Given the description of an element on the screen output the (x, y) to click on. 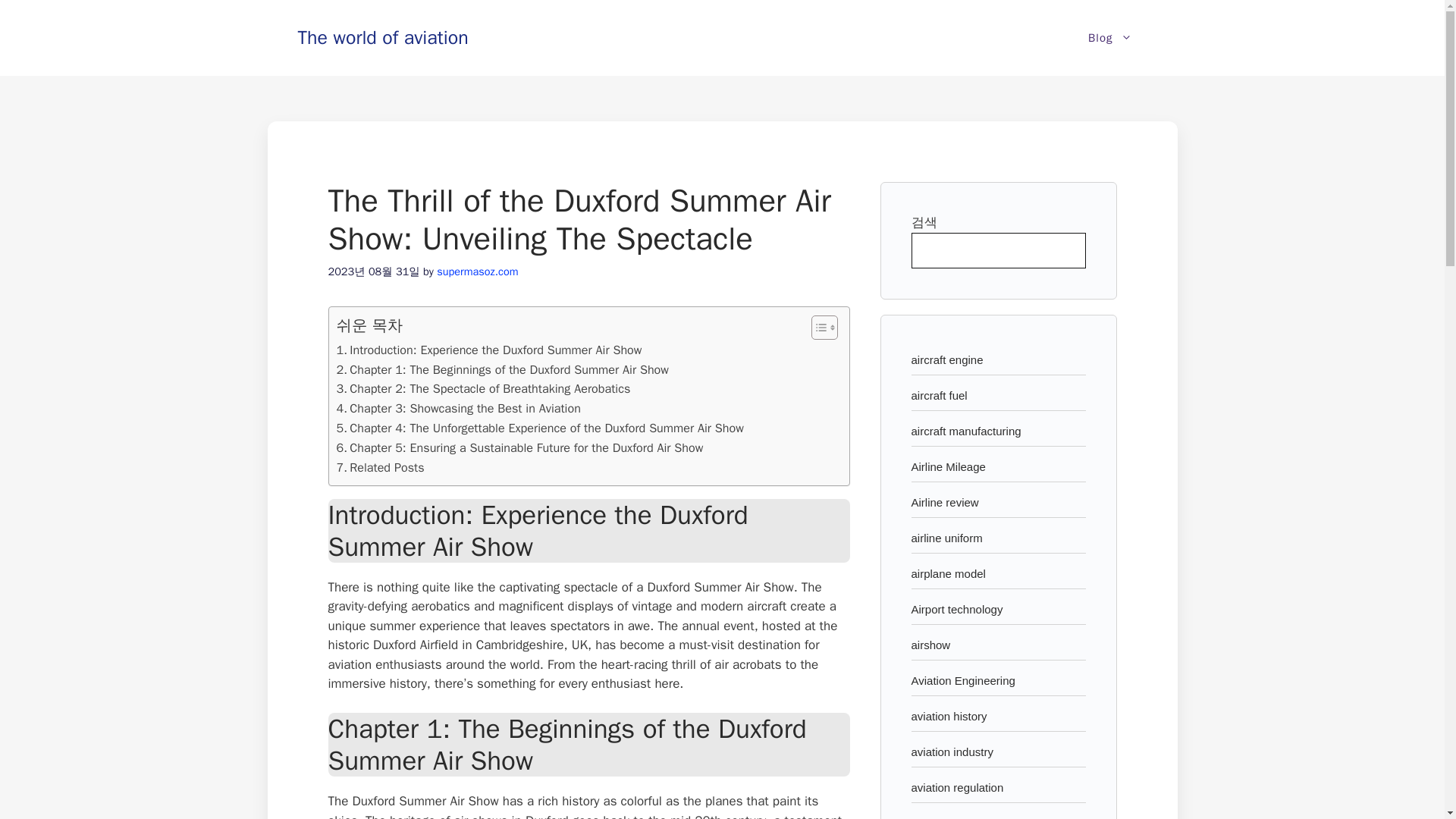
The world of aviation (382, 37)
aircraft fuel (939, 395)
Chapter 3: Showcasing the Best in Aviation (458, 408)
Chapter 2: The Spectacle of Breathtaking Aerobatics (483, 388)
aviation industry (951, 751)
Airline review (944, 502)
airshow (930, 644)
Chapter 3: Showcasing the Best in Aviation (458, 408)
Chapter 2: The Spectacle of Breathtaking Aerobatics (483, 388)
Related Posts (380, 467)
Airline Mileage (948, 466)
Chapter 1: The Beginnings of the Duxford Summer Air Show (502, 370)
airline uniform (946, 537)
